Given the description of an element on the screen output the (x, y) to click on. 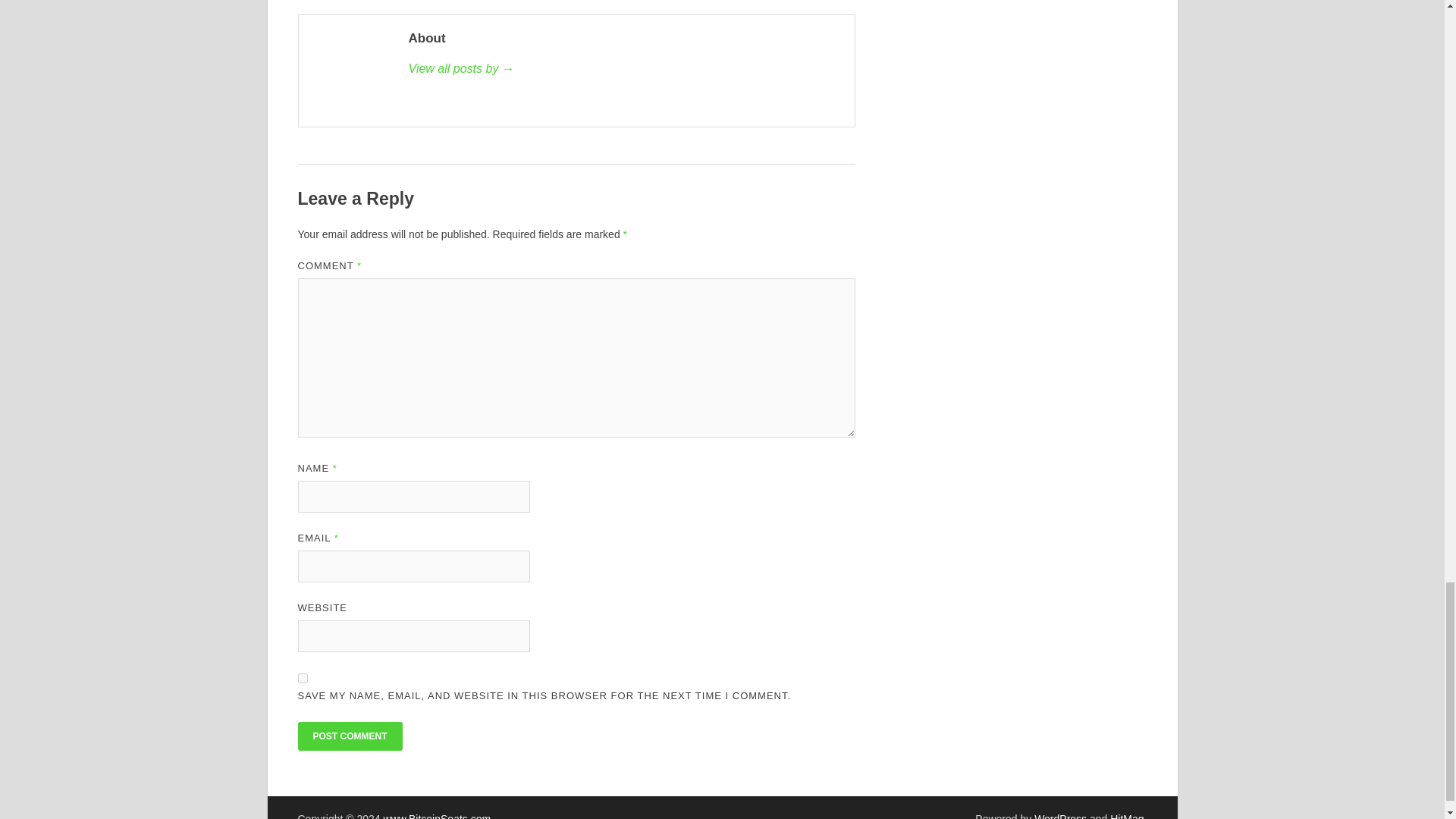
Post Comment (349, 736)
yes (302, 678)
Post Comment (349, 736)
